Given the description of an element on the screen output the (x, y) to click on. 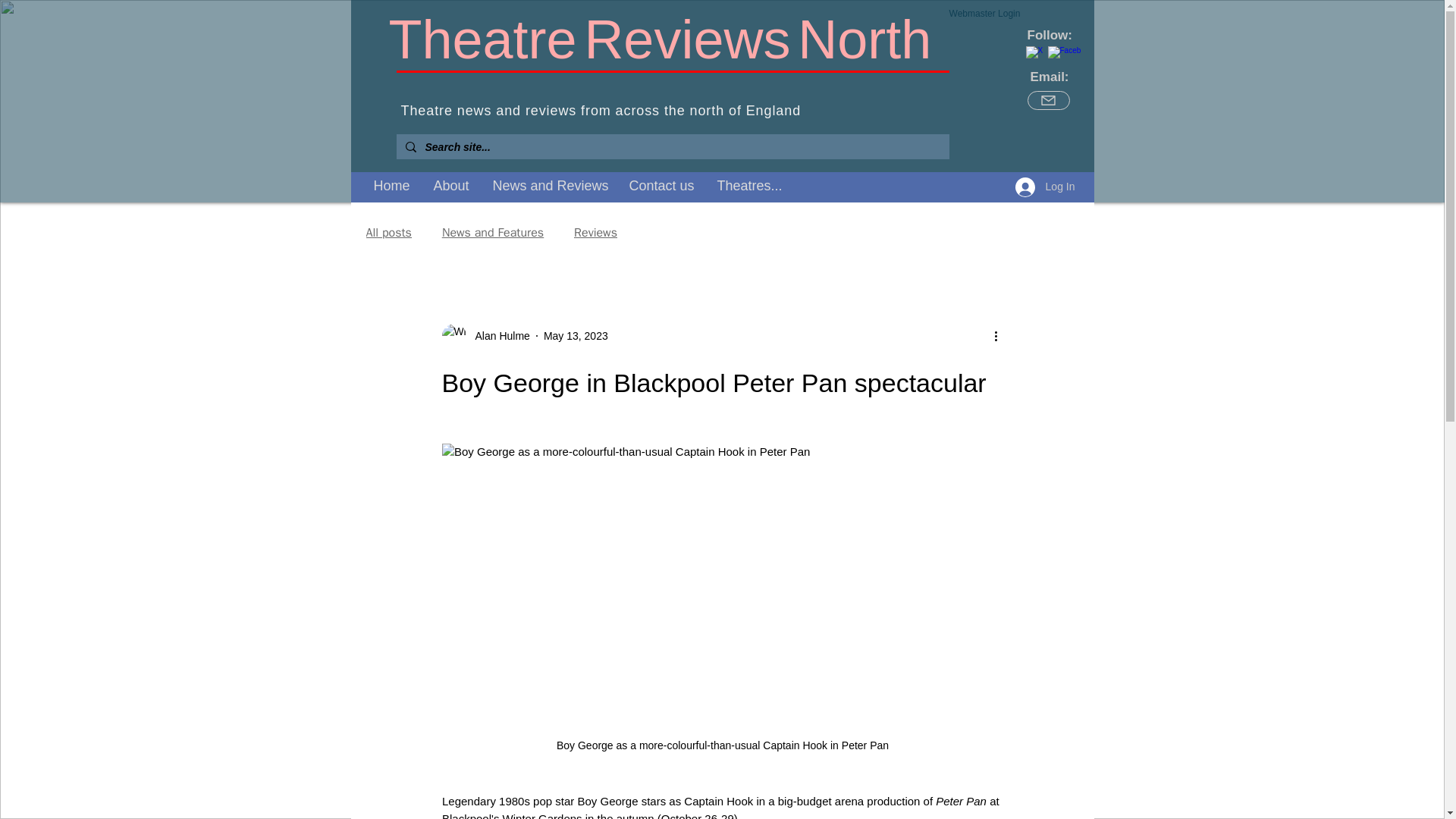
Webmaster Login (984, 13)
News and Features (492, 232)
Reviews (595, 232)
Log In (1045, 186)
Home (392, 185)
News and Reviews (548, 185)
All posts (387, 232)
Alan Hulme (497, 335)
Alan Hulme (485, 335)
About (451, 185)
Contact us (660, 185)
May 13, 2023 (575, 335)
